Given the description of an element on the screen output the (x, y) to click on. 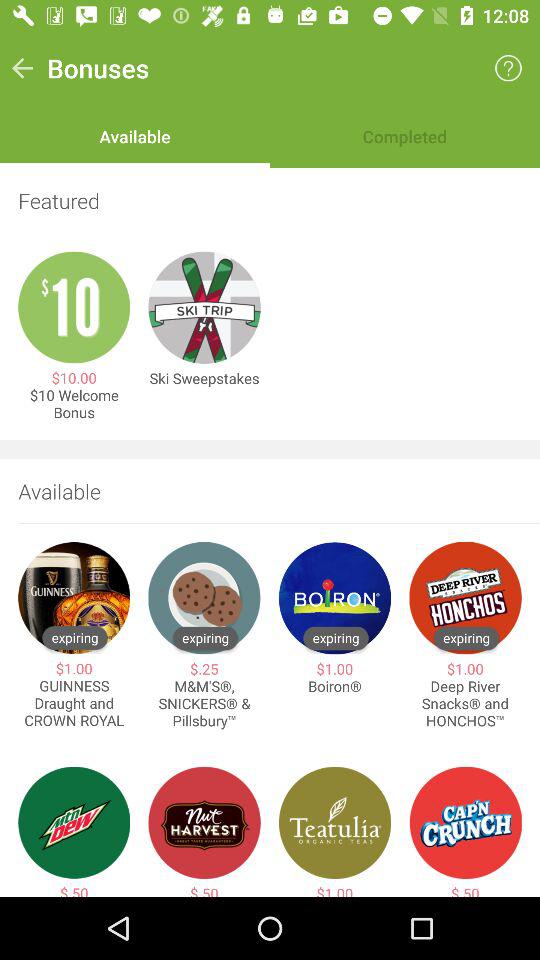
tap the icon next to m m s icon (74, 703)
